Given the description of an element on the screen output the (x, y) to click on. 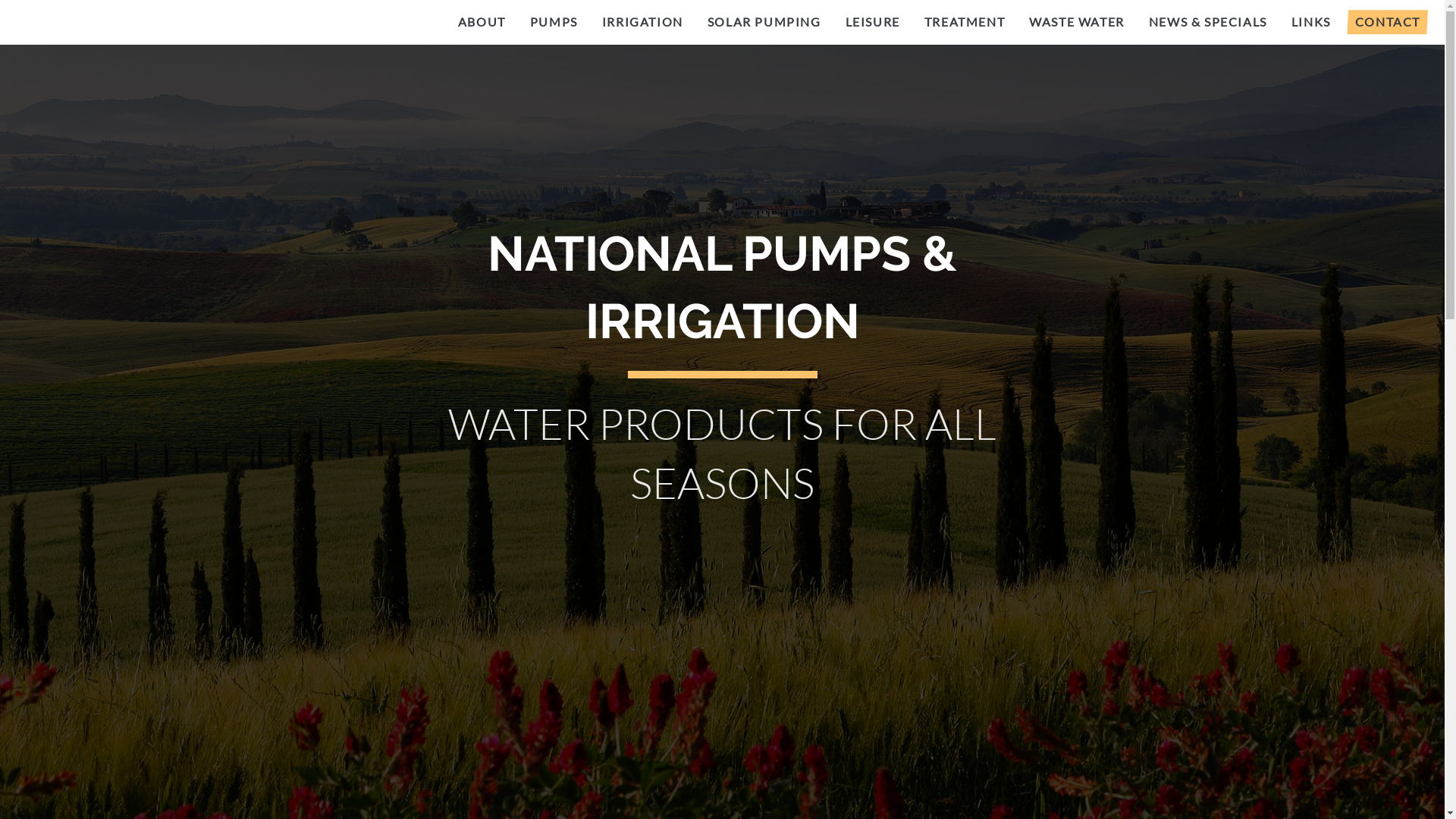
PUMPS Element type: text (553, 21)
SOLAR PUMPING Element type: text (764, 21)
LEISURE Element type: text (872, 21)
CONTACT Element type: text (1387, 21)
WASTE WATER Element type: text (1076, 21)
LINKS Element type: text (1311, 21)
NEWS & SPECIALS Element type: text (1207, 21)
ABOUT Element type: text (481, 21)
TREATMENT Element type: text (964, 21)
IRRIGATION Element type: text (642, 21)
